Given the description of an element on the screen output the (x, y) to click on. 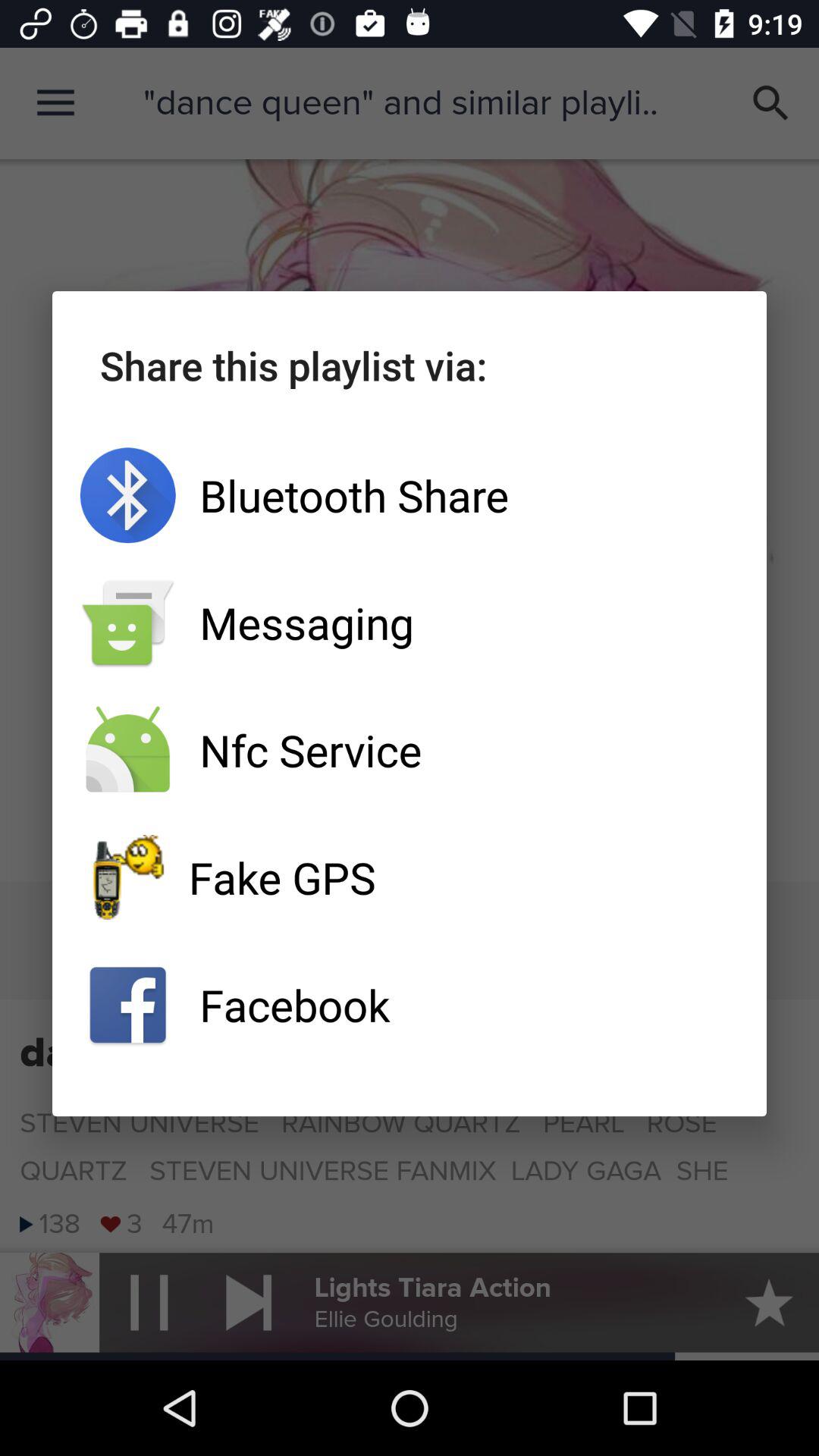
swipe to messaging item (409, 622)
